Given the description of an element on the screen output the (x, y) to click on. 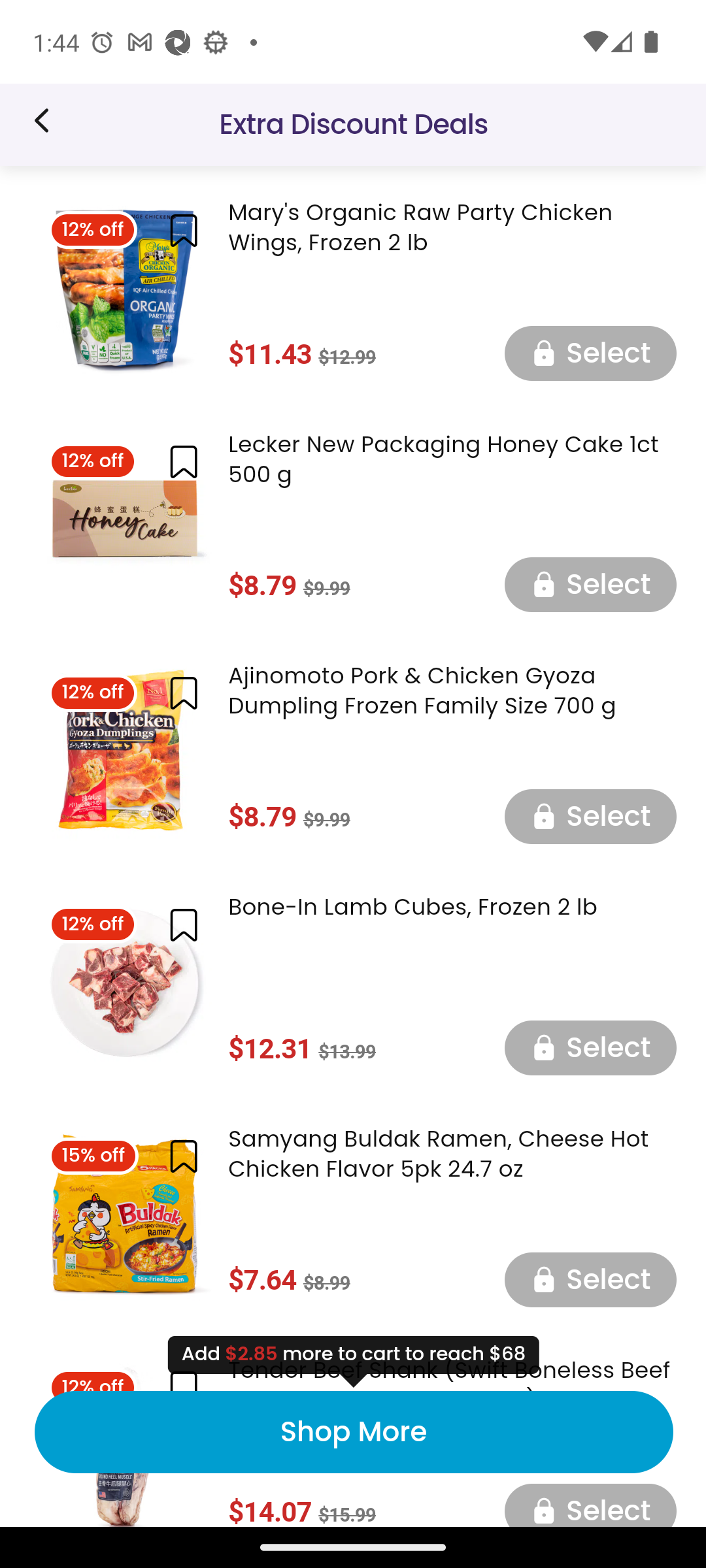
Weee! - Groceries Delivered (47, 119)
 (182, 229)
 Select (589, 355)
 (182, 461)
 Select (589, 584)
 (182, 693)
 Select (589, 816)
 (182, 924)
 Select (589, 1047)
 (182, 1157)
 Select (589, 1279)
Shop More (352, 1431)
 Select (589, 1505)
